Given the description of an element on the screen output the (x, y) to click on. 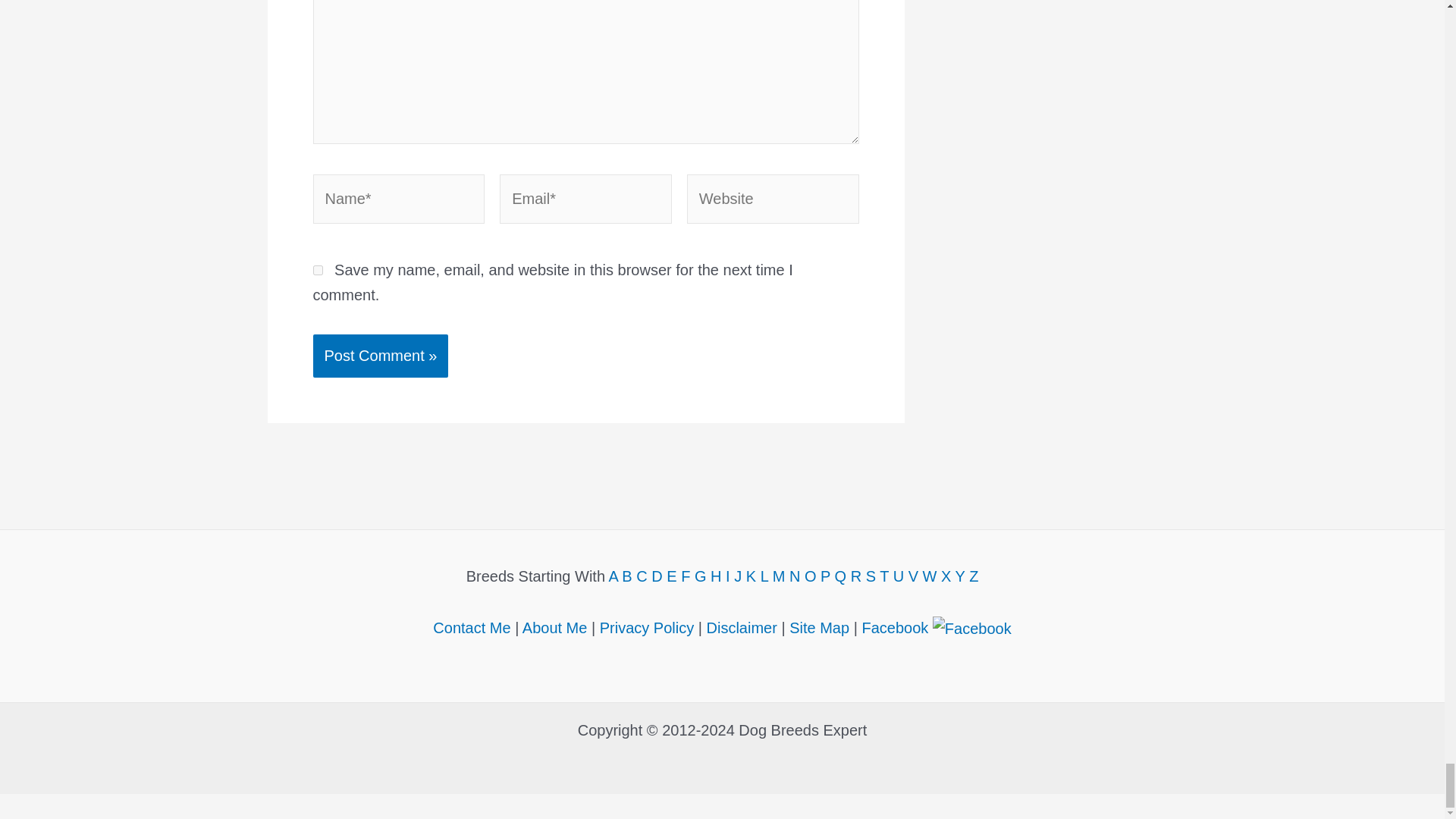
yes (317, 270)
